Given the description of an element on the screen output the (x, y) to click on. 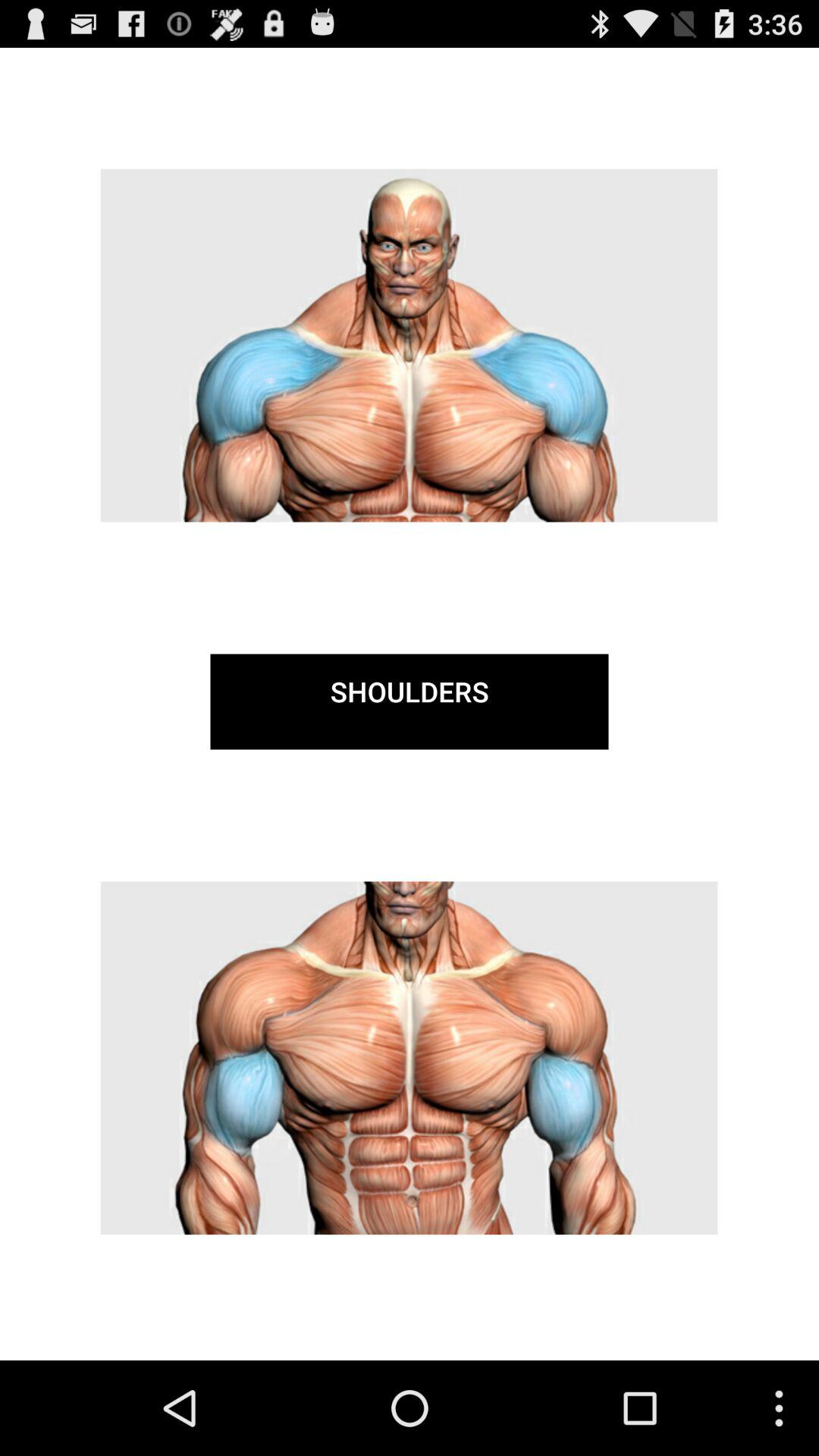
open the shoulders item (409, 701)
